Given the description of an element on the screen output the (x, y) to click on. 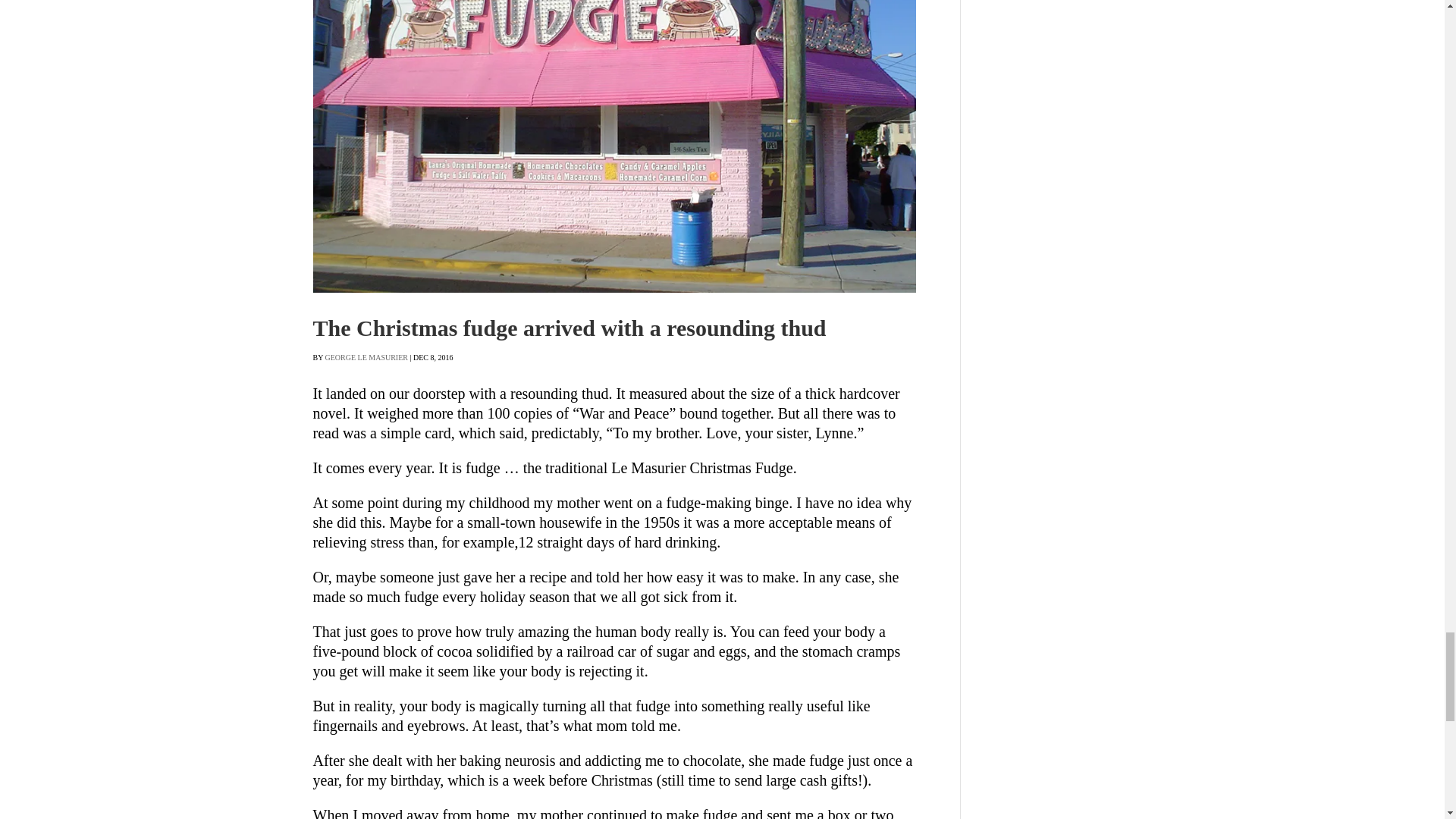
Posts by George Le Masurier (365, 356)
